Given the description of an element on the screen output the (x, y) to click on. 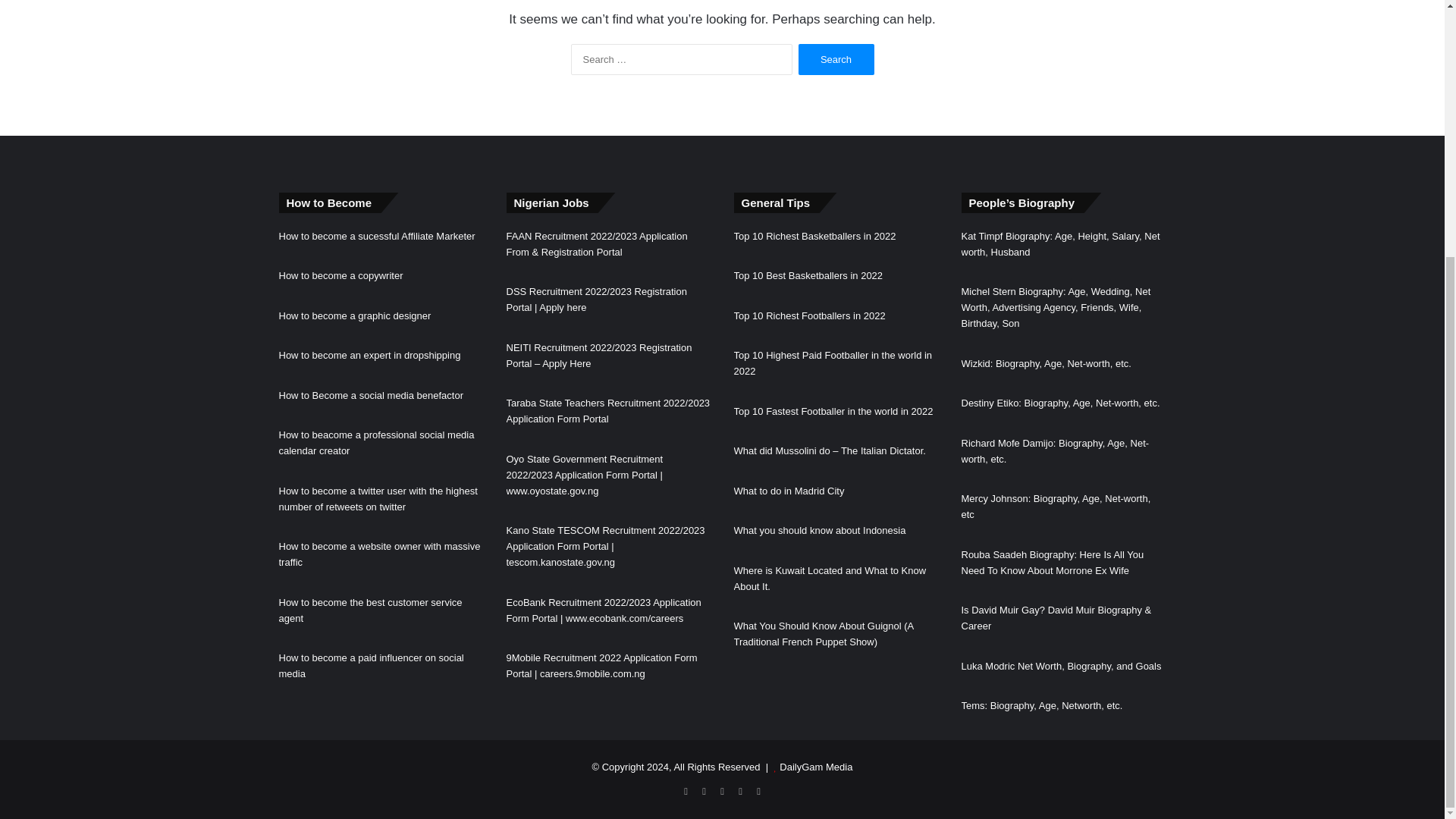
Search (835, 59)
How to beacome a professional social media calendar creator (376, 442)
Search (835, 59)
How to become a graphic designer (354, 315)
How to become a copywriter (341, 275)
How to Become a social media benefactor (371, 395)
Search (835, 59)
How to become a sucessful Affiliate Marketer (377, 235)
How to become a paid influencer on social media (371, 665)
How to become a website owner with massive traffic (379, 554)
